Given the description of an element on the screen output the (x, y) to click on. 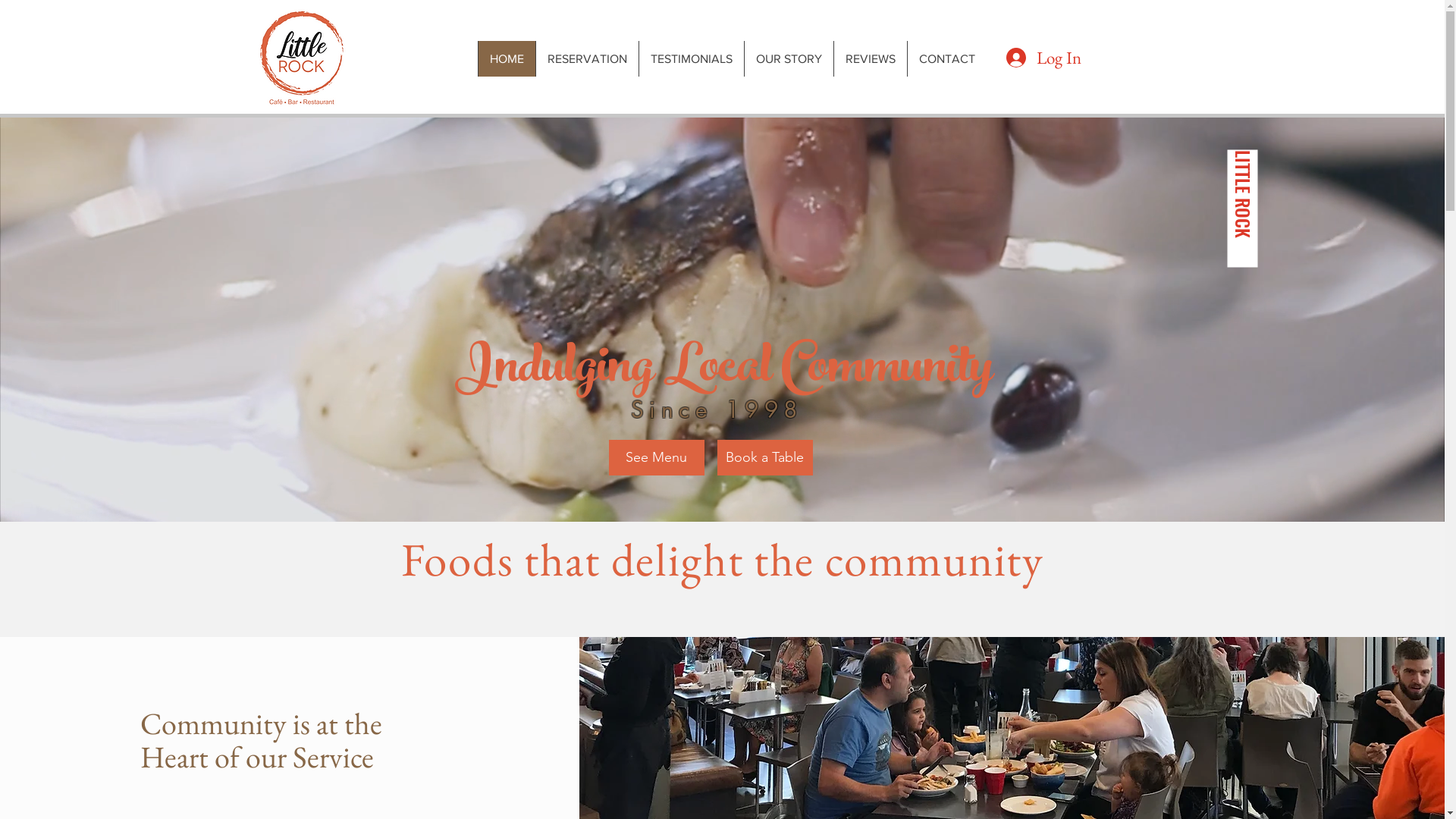
OUR STORY Element type: text (788, 58)
TESTIMONIALS Element type: text (690, 58)
Book a Table Element type: text (764, 457)
CONTACT Element type: text (946, 58)
Restaurant Social Bar Element type: hover (1052, 116)
LITTLE ROCK Element type: text (1285, 165)
RESERVATION Element type: text (586, 58)
HOME Element type: text (506, 58)
See Menu Element type: text (655, 457)
Log In Element type: text (1039, 57)
REVIEWS Element type: text (869, 58)
Click to go to Home page Element type: hover (300, 58)
